Given the description of an element on the screen output the (x, y) to click on. 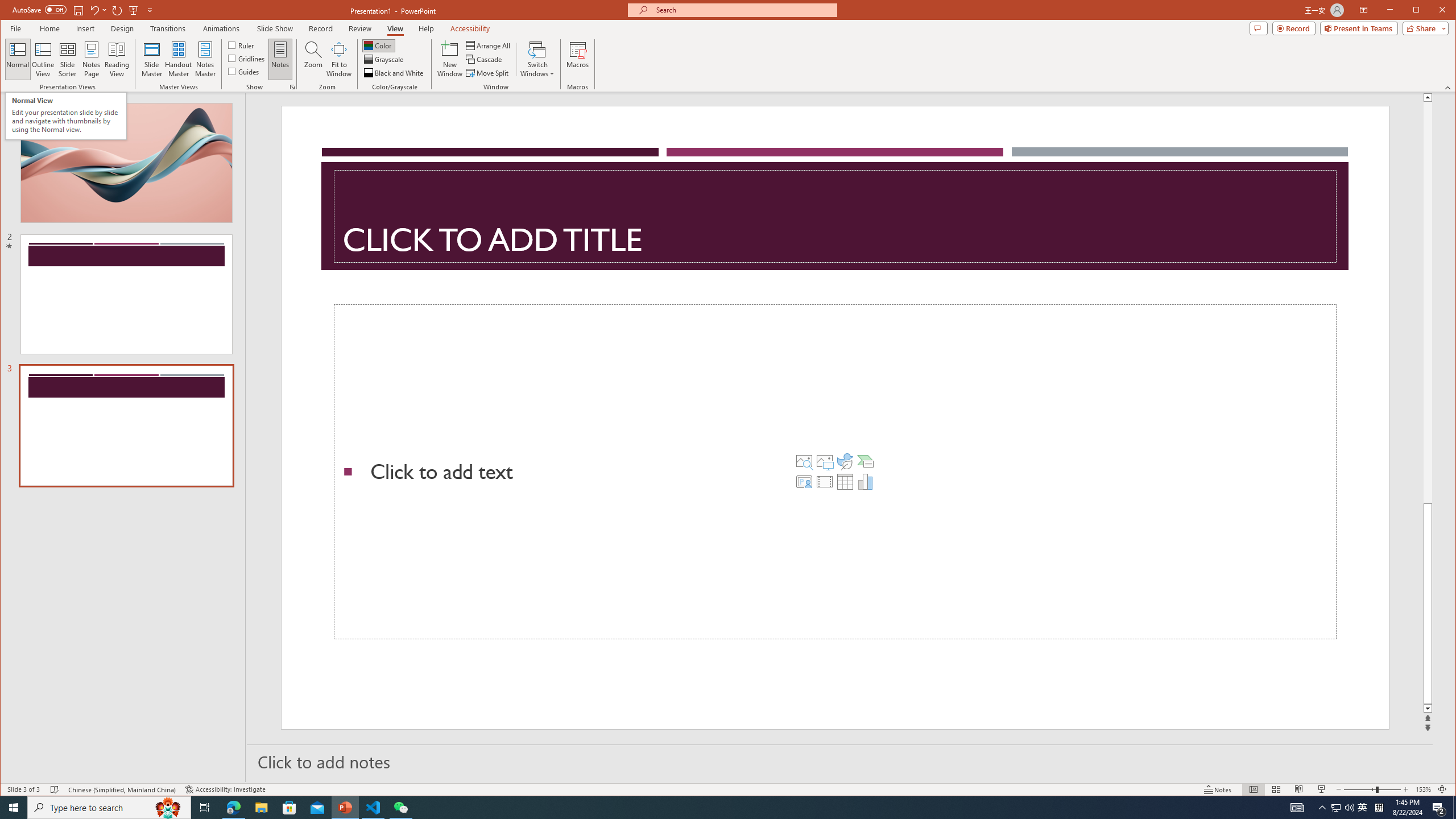
Fit to Window (338, 59)
Zoom... (312, 59)
New Window (450, 59)
